Given the description of an element on the screen output the (x, y) to click on. 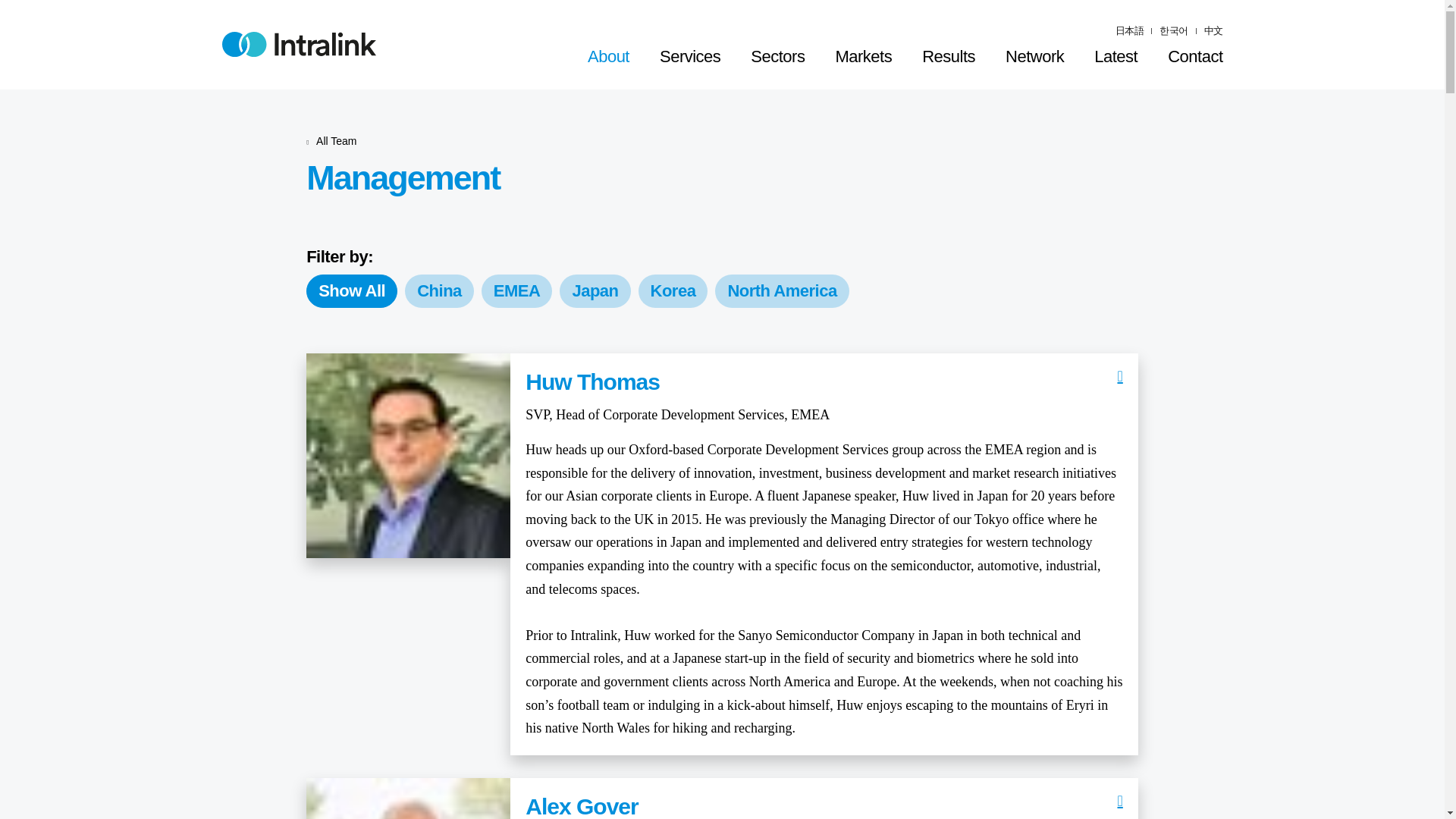
Results (948, 57)
Services (690, 57)
Sectors (777, 57)
Markets (863, 57)
About (608, 57)
